Given the description of an element on the screen output the (x, y) to click on. 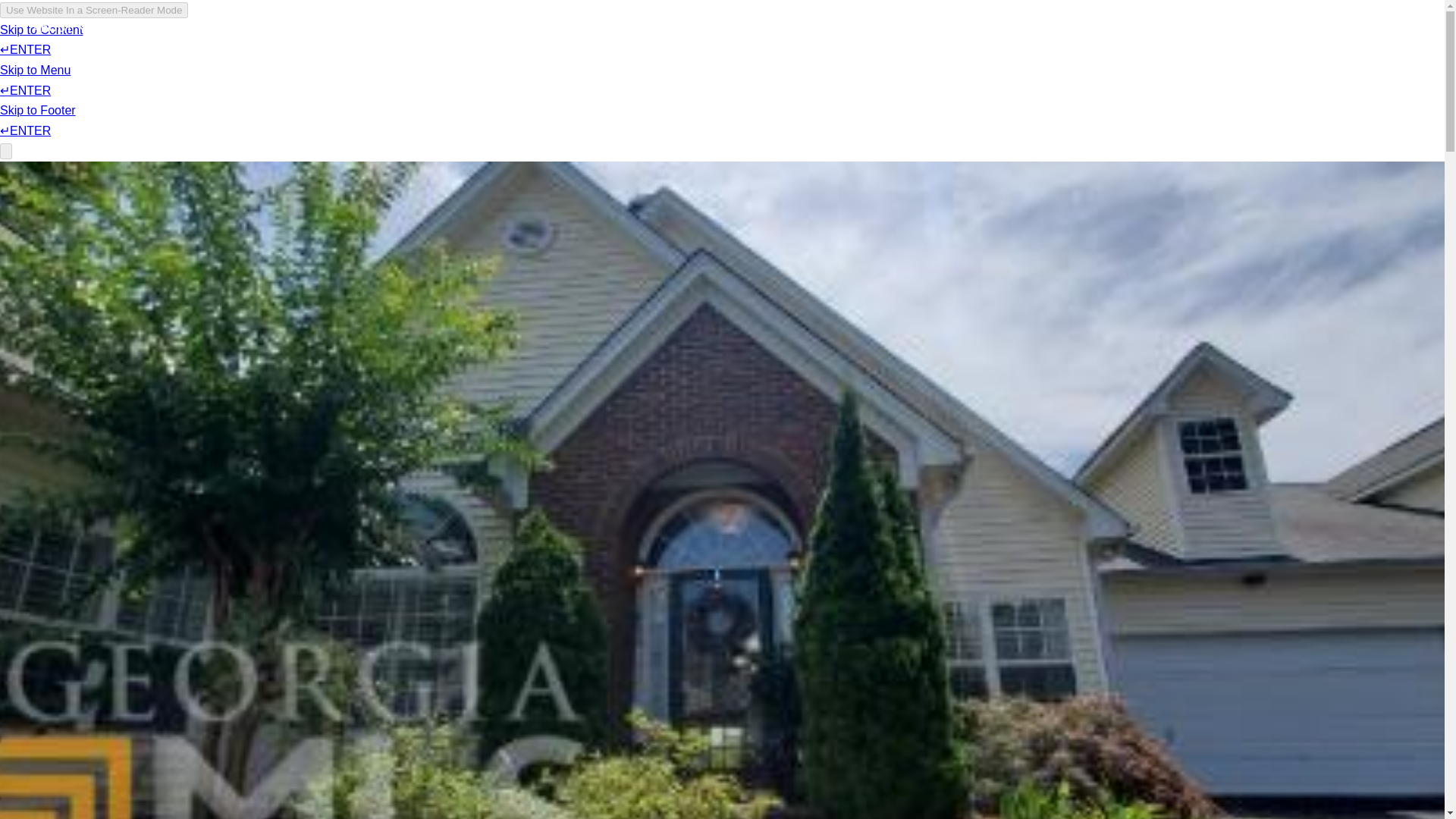
MARKET INSIGHT (1208, 31)
OUR SERVICES (162, 56)
HOME SEARCH (1086, 35)
ABOUT (61, 66)
